Given the description of an element on the screen output the (x, y) to click on. 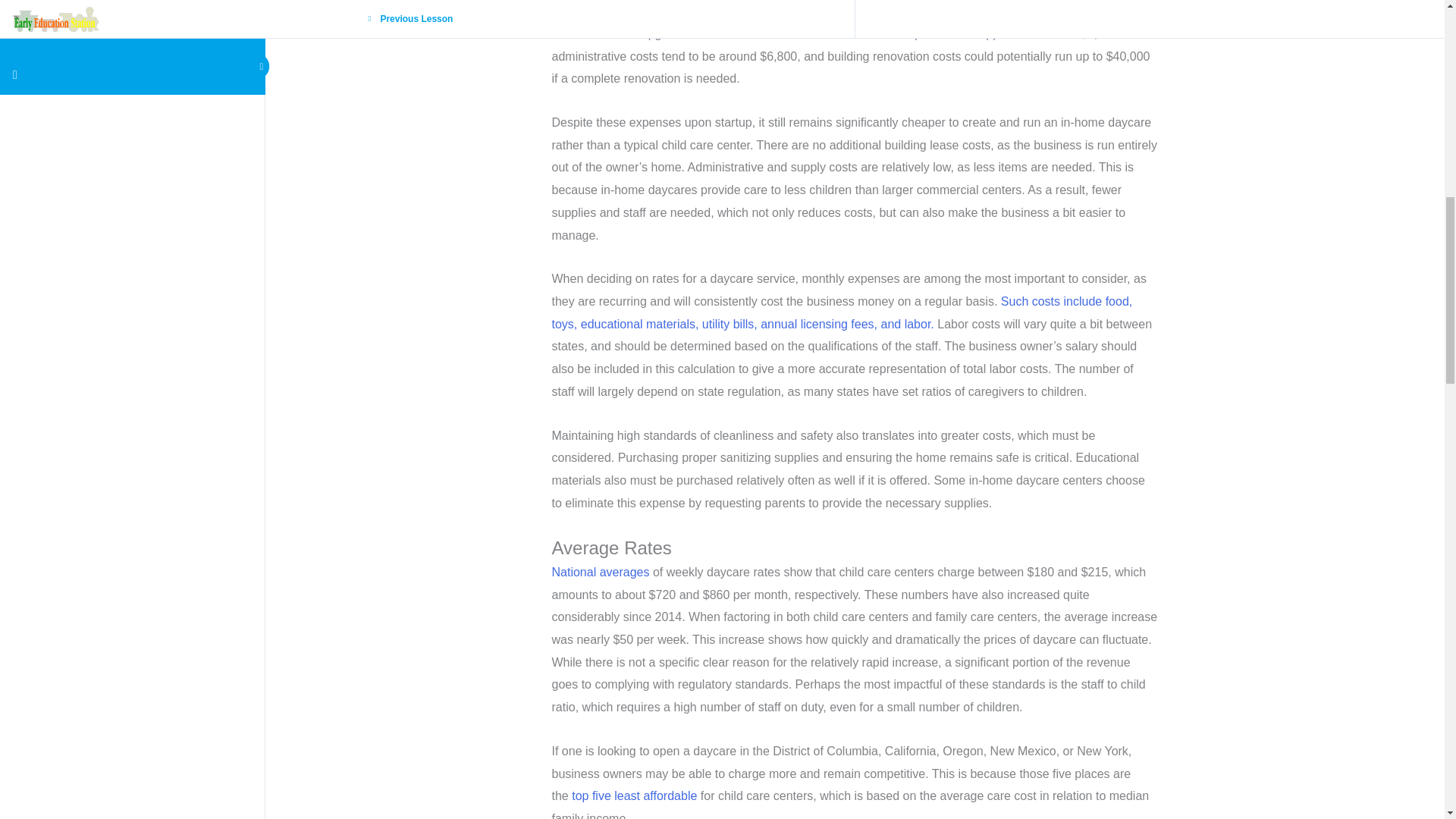
cost (1032, 33)
top five least affordable  (636, 795)
National averages  (601, 571)
